Given the description of an element on the screen output the (x, y) to click on. 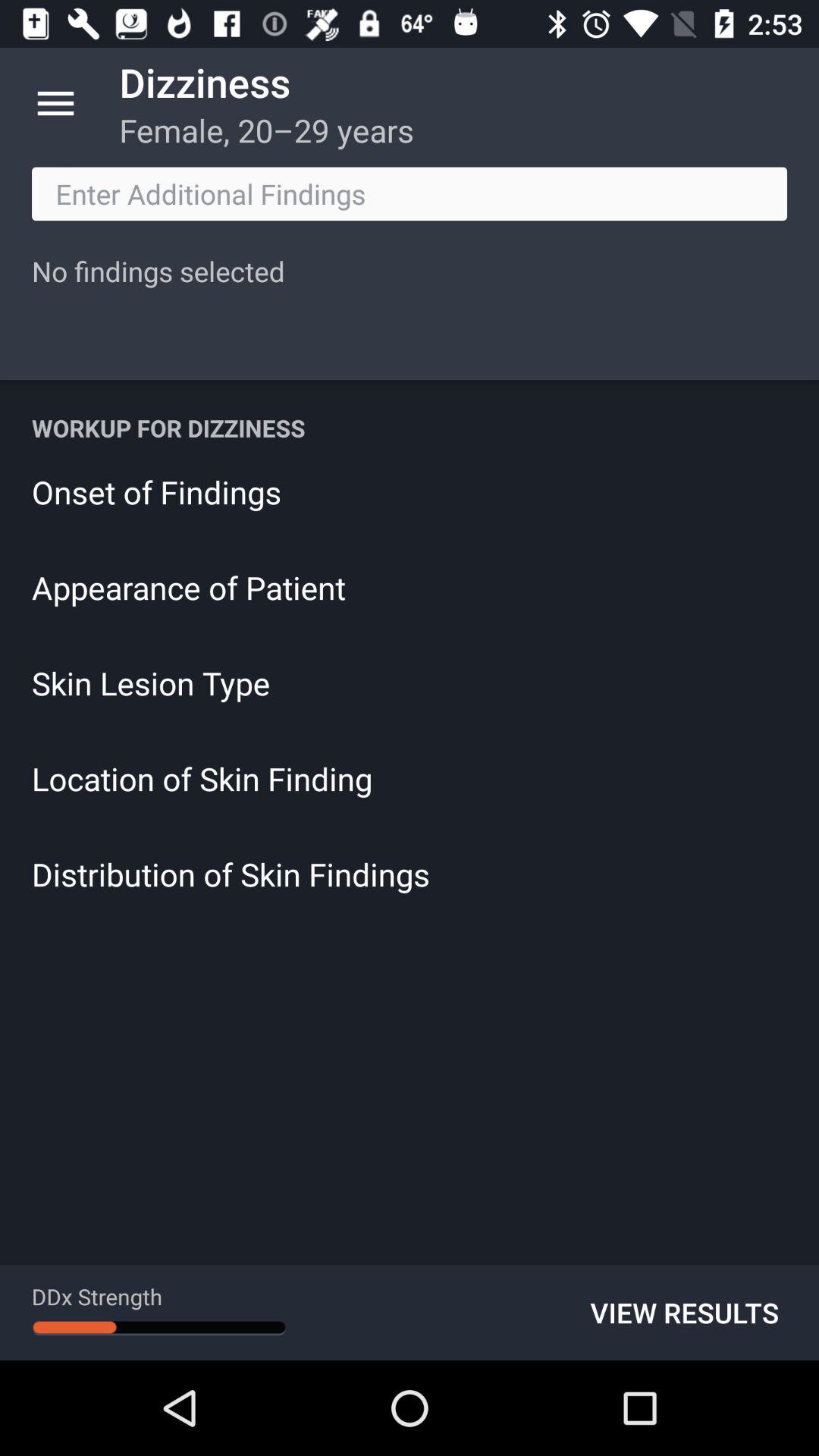
launch the item below the appearance of patient icon (409, 682)
